Given the description of an element on the screen output the (x, y) to click on. 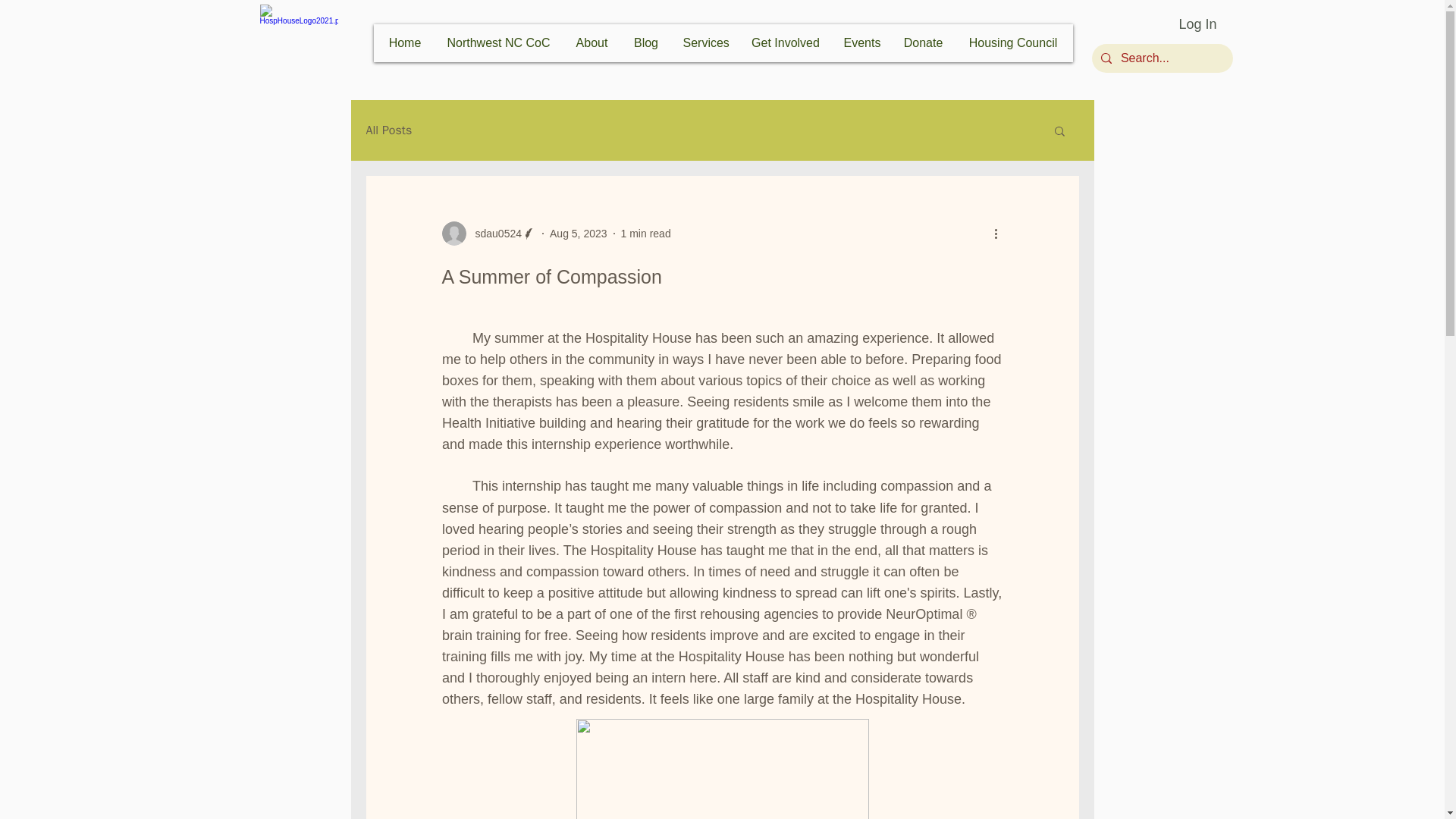
About (591, 42)
sdau0524 (493, 233)
Get Involved (784, 42)
Aug 5, 2023 (578, 233)
Northwest NC CoC (497, 42)
Home (404, 42)
Services (703, 42)
1 min read (646, 233)
Events (860, 42)
Blog (644, 42)
